Given the description of an element on the screen output the (x, y) to click on. 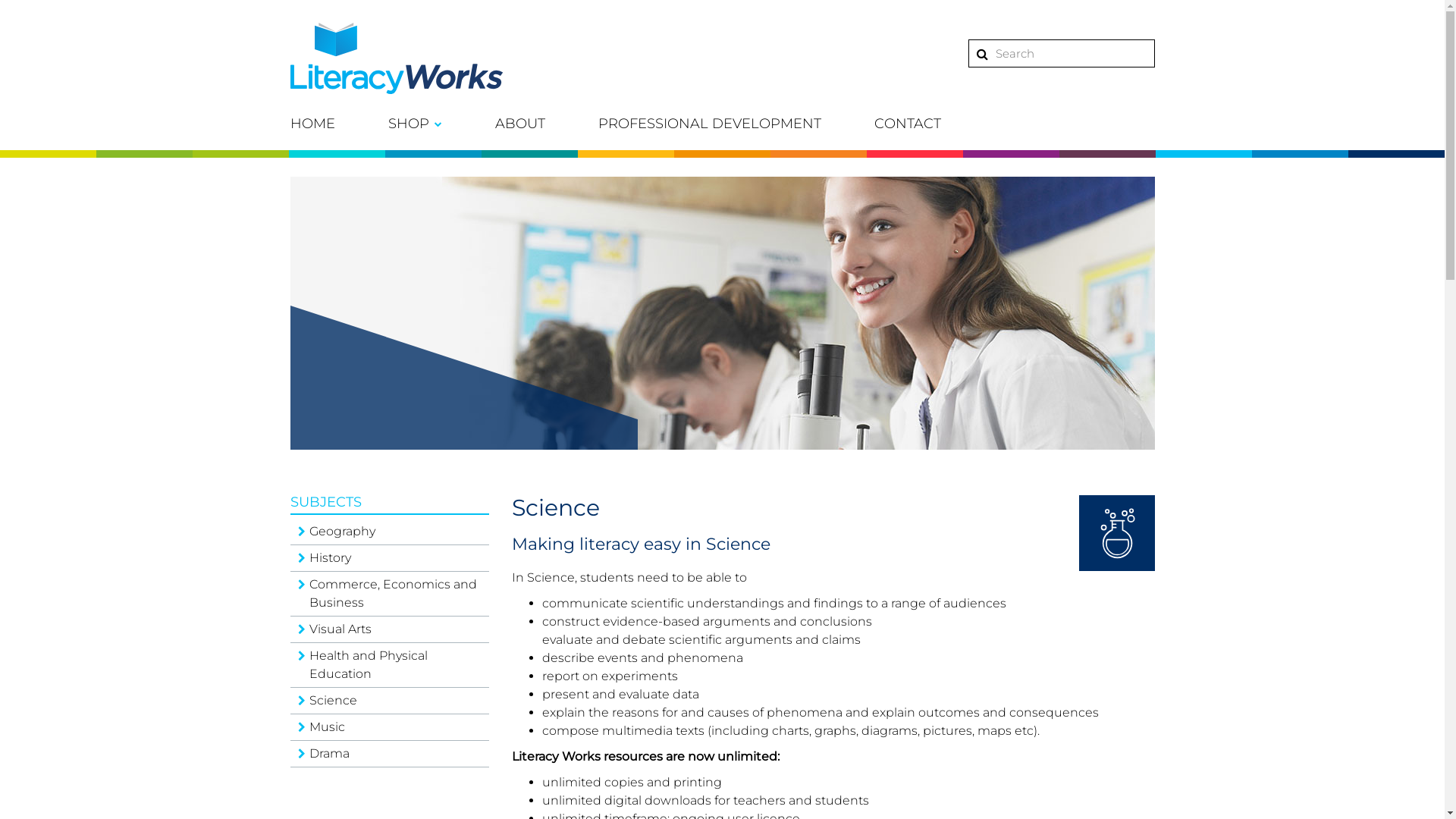
Science Element type: text (389, 700)
Commerce, Economics and Business Element type: text (389, 593)
ABOUT Element type: text (519, 123)
PROFESSIONAL DEVELOPMENT Element type: text (708, 123)
SHOP Element type: text (415, 123)
Geography Element type: text (389, 531)
Drama Element type: text (389, 753)
Health and Physical Education Element type: text (389, 665)
HOME Element type: text (311, 123)
Visual Arts Element type: text (389, 629)
Music Element type: text (389, 727)
CONTACT Element type: text (906, 123)
History Element type: text (389, 558)
